Given the description of an element on the screen output the (x, y) to click on. 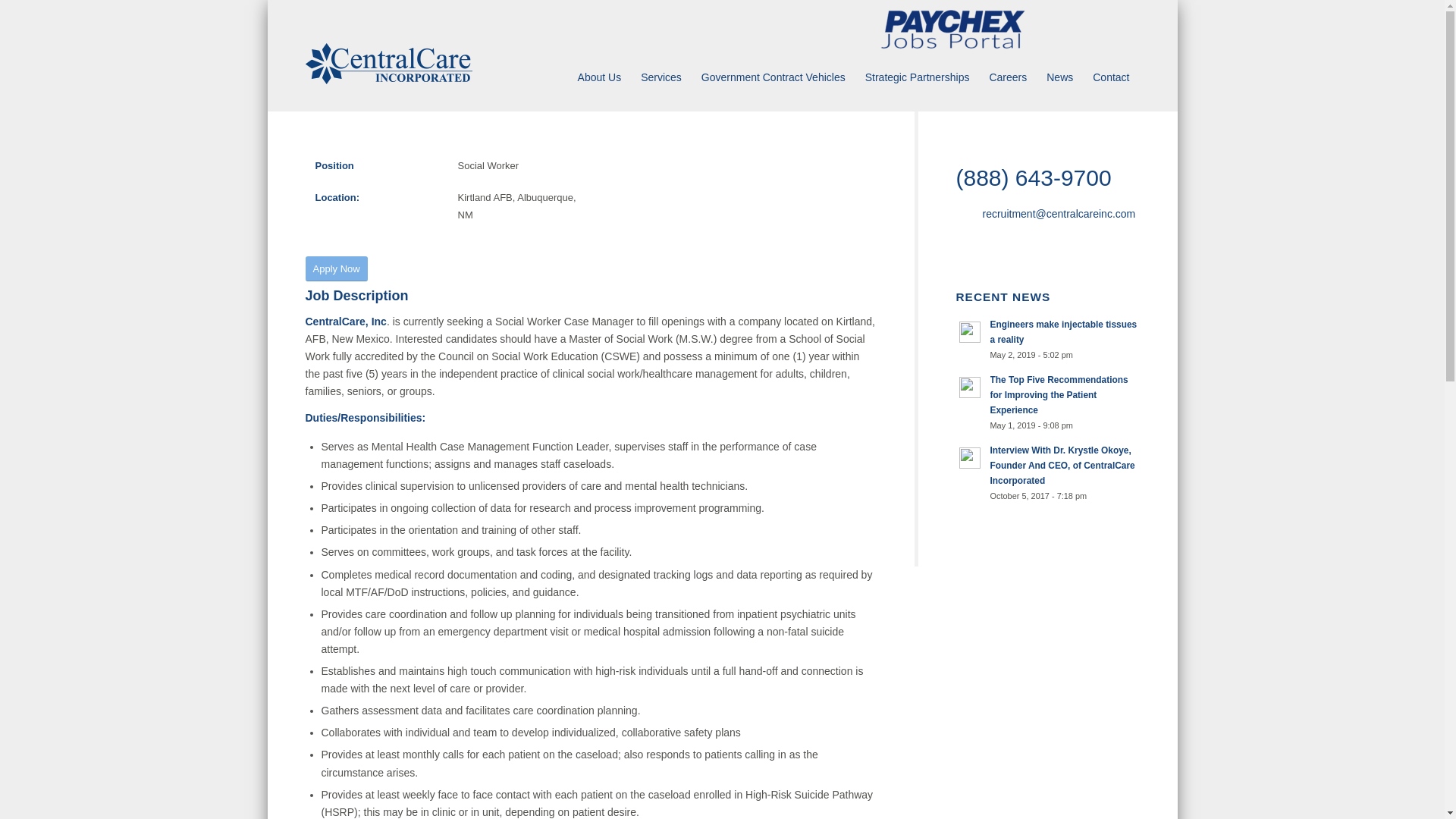
About Us (599, 77)
Apply Now (335, 268)
Government Contract Vehicles (773, 77)
Services (660, 77)
